Given the description of an element on the screen output the (x, y) to click on. 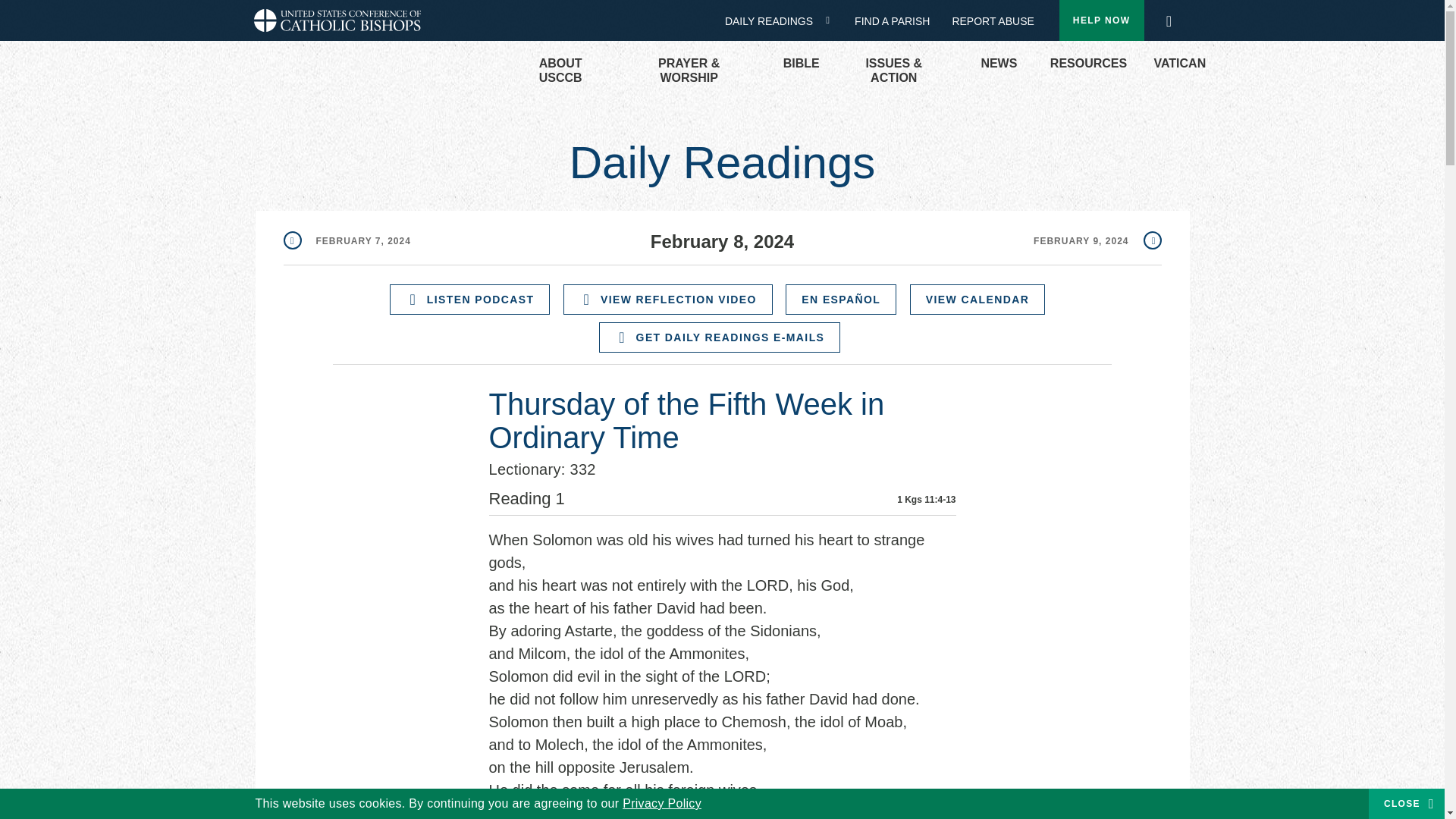
Link list for Vatican website (1171, 62)
FIND A PARISH (897, 20)
Go (1173, 21)
DAILY READINGS (774, 20)
HELP NOW (1101, 20)
REPORT ABUSE (992, 20)
Search (1168, 16)
DAILY READINGS CALENDAR (832, 20)
